Given the description of an element on the screen output the (x, y) to click on. 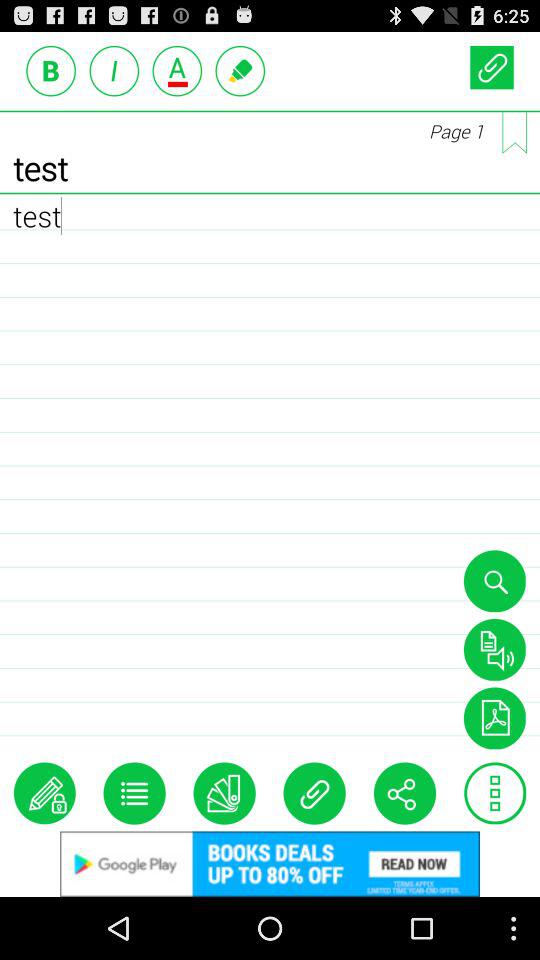
setting option (495, 793)
